Given the description of an element on the screen output the (x, y) to click on. 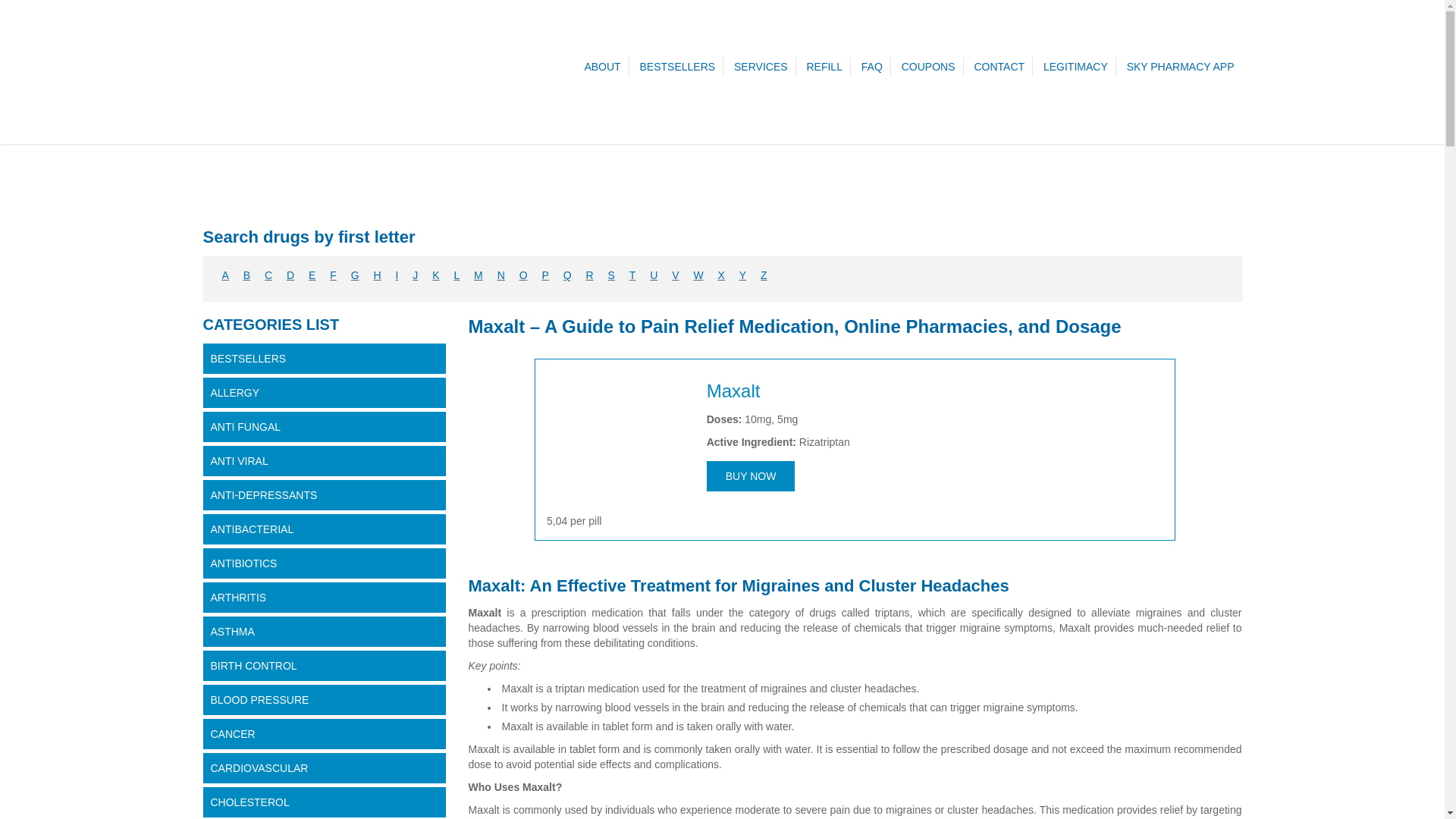
T (632, 275)
SKY PHARMACY APP (1180, 66)
A (224, 275)
S (610, 275)
BESTSELLERS (677, 66)
J (414, 275)
G (354, 275)
I (395, 275)
L (456, 275)
X (721, 275)
V (674, 275)
D (290, 275)
ABOUT (602, 66)
H (376, 275)
Sky Pharmacy with Affordable Online Generics (316, 128)
